Given the description of an element on the screen output the (x, y) to click on. 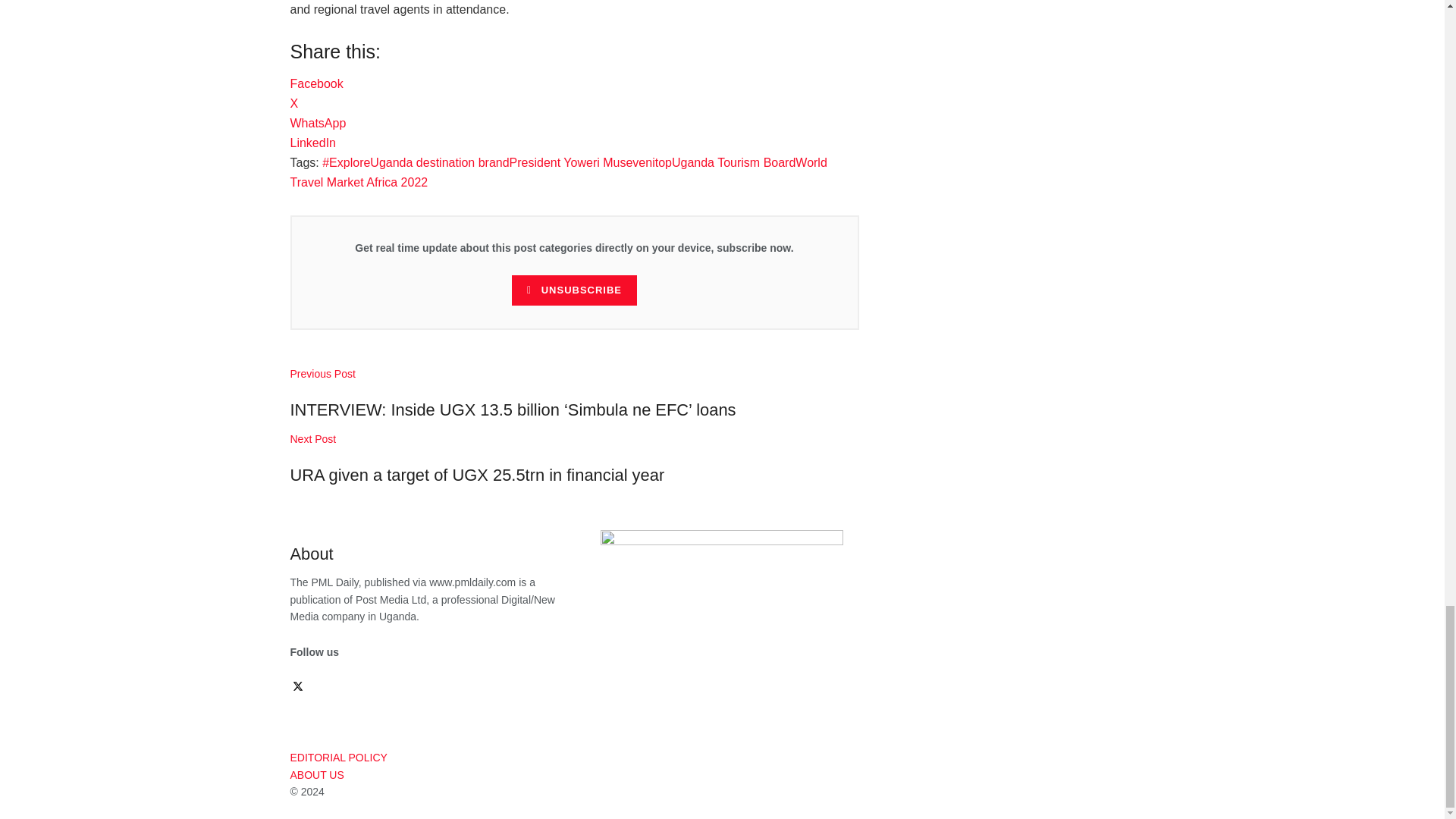
Click to share on Facebook (315, 83)
Click to share on WhatsApp (317, 123)
Click to share on LinkedIn (312, 142)
